Given the description of an element on the screen output the (x, y) to click on. 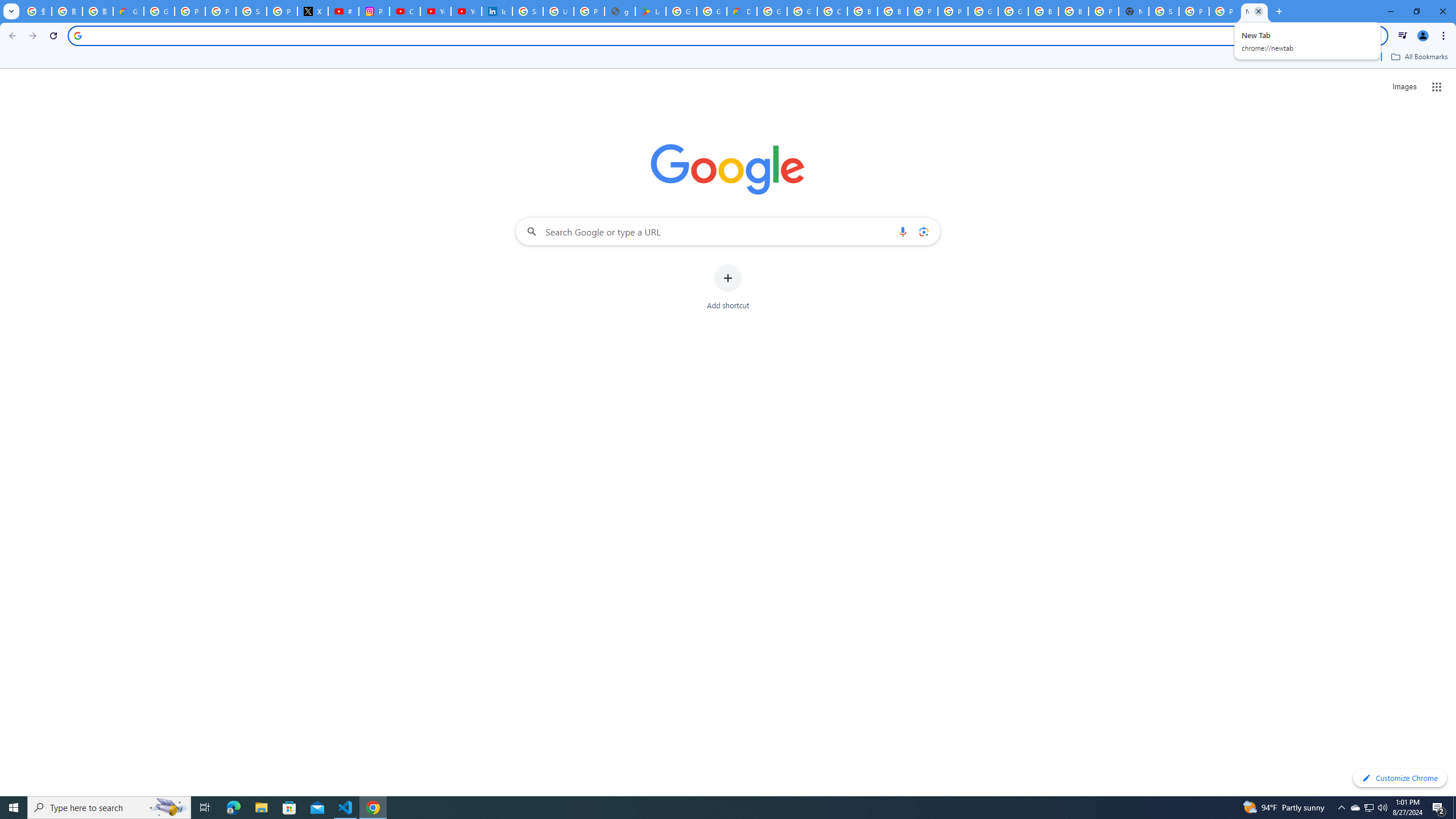
#nbabasketballhighlights - YouTube (343, 11)
Last Shelter: Survival - Apps on Google Play (650, 11)
Browse Chrome as a guest - Computer - Google Chrome Help (1042, 11)
